Given the description of an element on the screen output the (x, y) to click on. 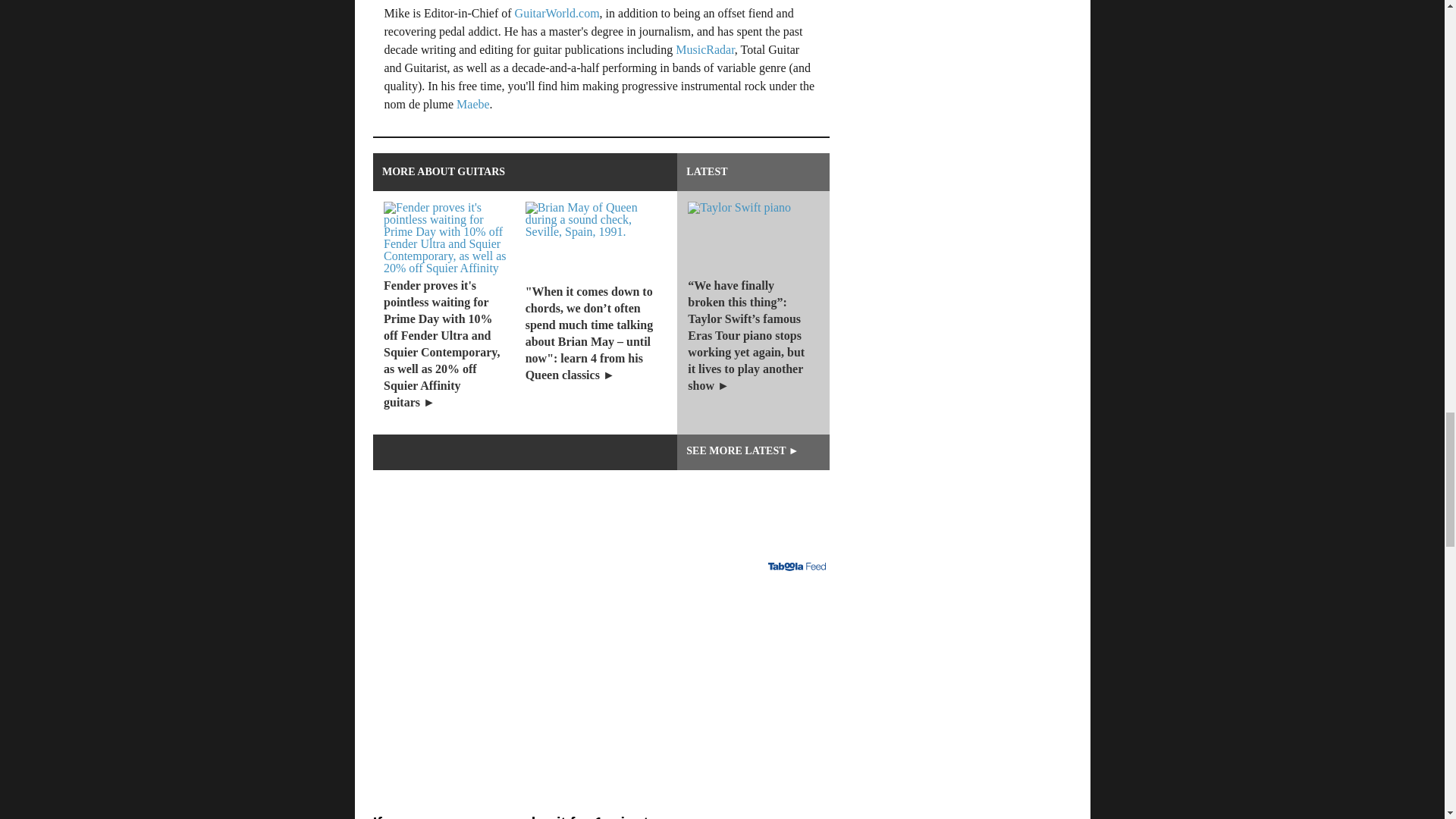
If you own a mouse, play it for 1 minute. (600, 801)
If you own a mouse, play it for 1 minute. (600, 666)
